Given the description of an element on the screen output the (x, y) to click on. 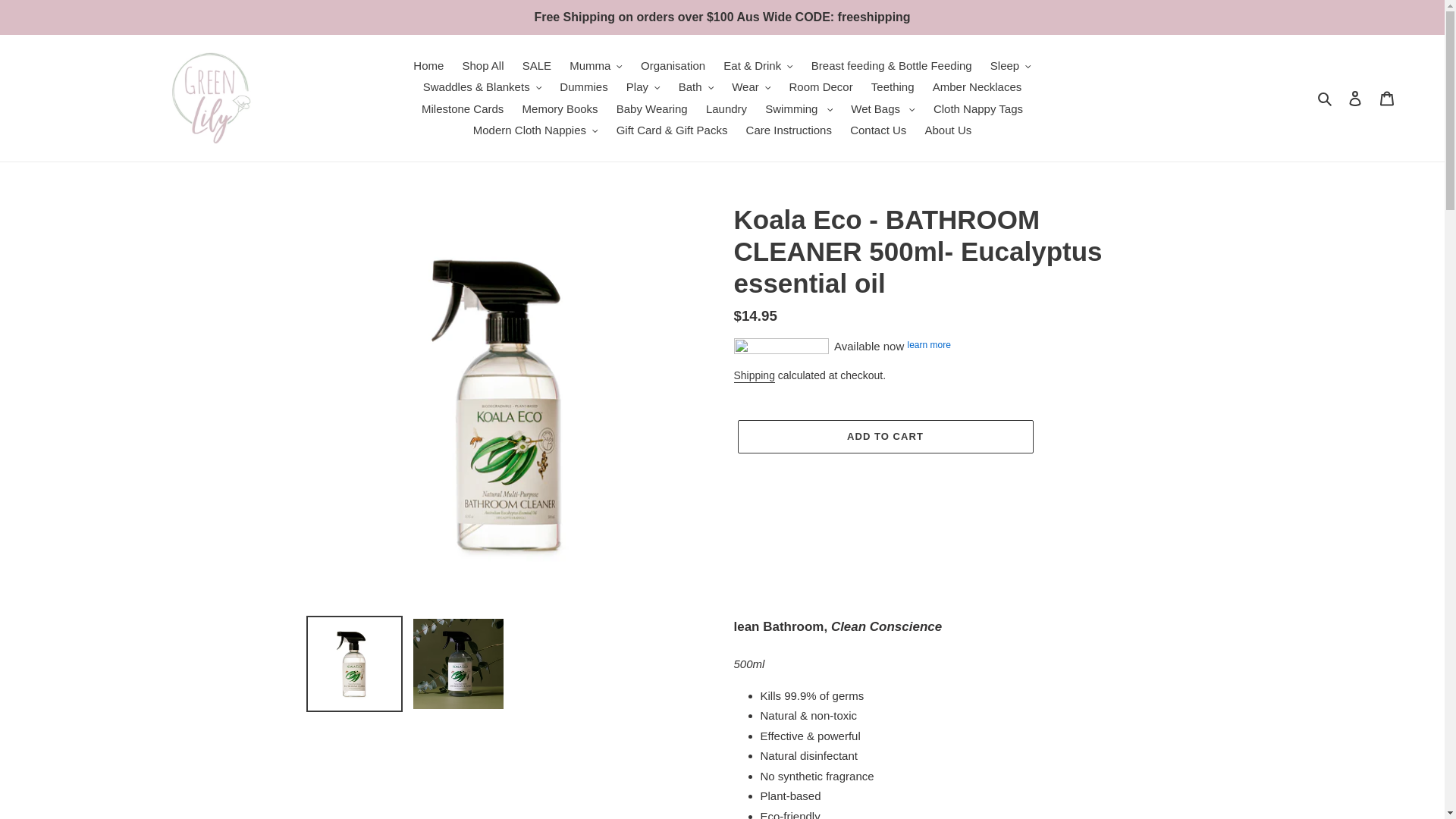
Sleep (1010, 65)
Mumma (596, 65)
Shop All (482, 65)
Home (428, 65)
Organisation (673, 65)
SALE (537, 65)
